Given the description of an element on the screen output the (x, y) to click on. 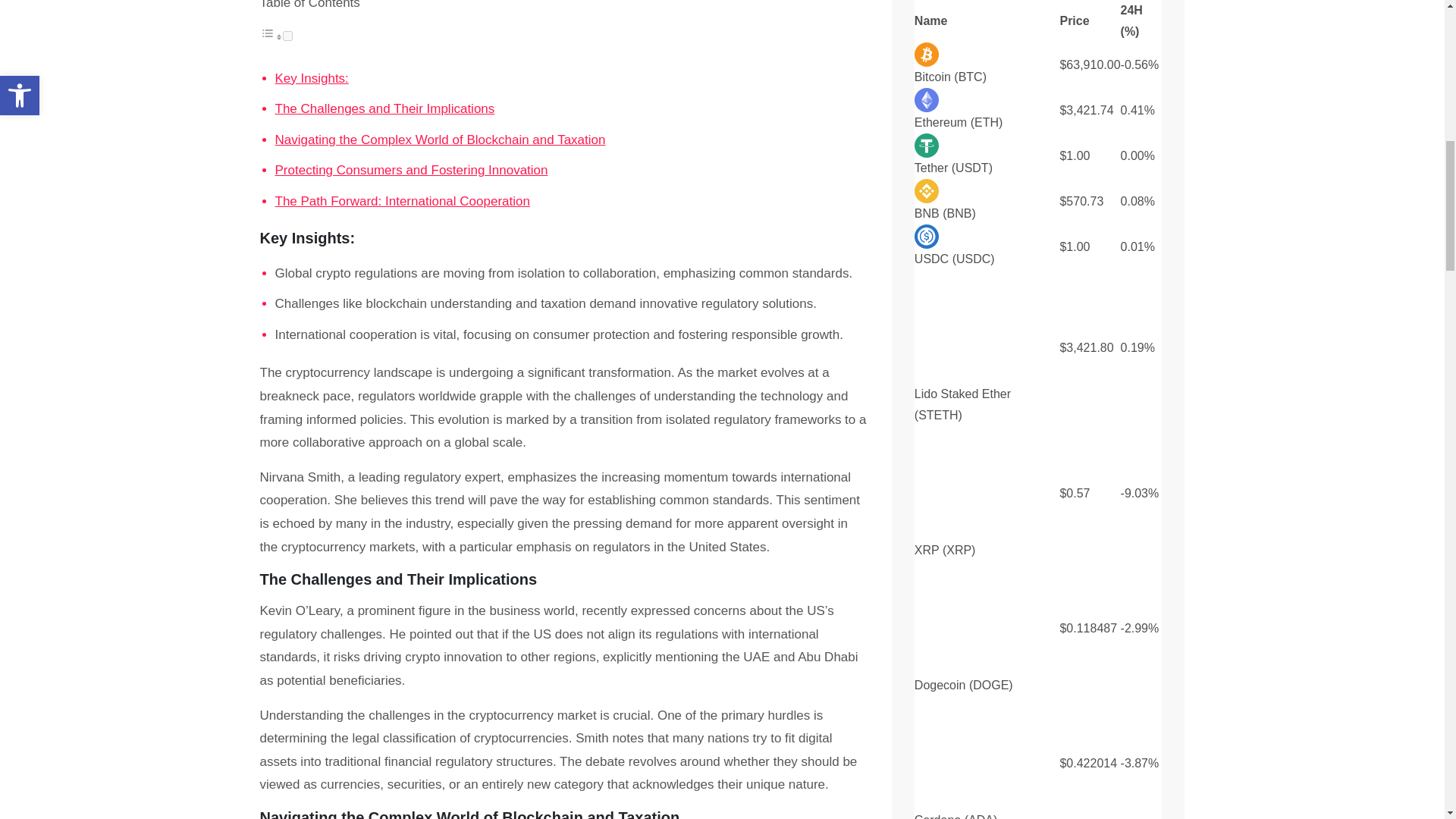
Navigating the Complex World of Blockchain and Taxation (440, 140)
Key Insights: (311, 78)
The Path Forward: International Cooperation (402, 201)
The Path Forward: International Cooperation (402, 201)
The Challenges and Their Implications (385, 109)
on (287, 35)
The Challenges and Their Implications (385, 109)
Key Insights: (311, 78)
Navigating the Complex World of Blockchain and Taxation (440, 140)
Protecting Consumers and Fostering Innovation (411, 170)
Protecting Consumers and Fostering Innovation (411, 170)
